Given the description of an element on the screen output the (x, y) to click on. 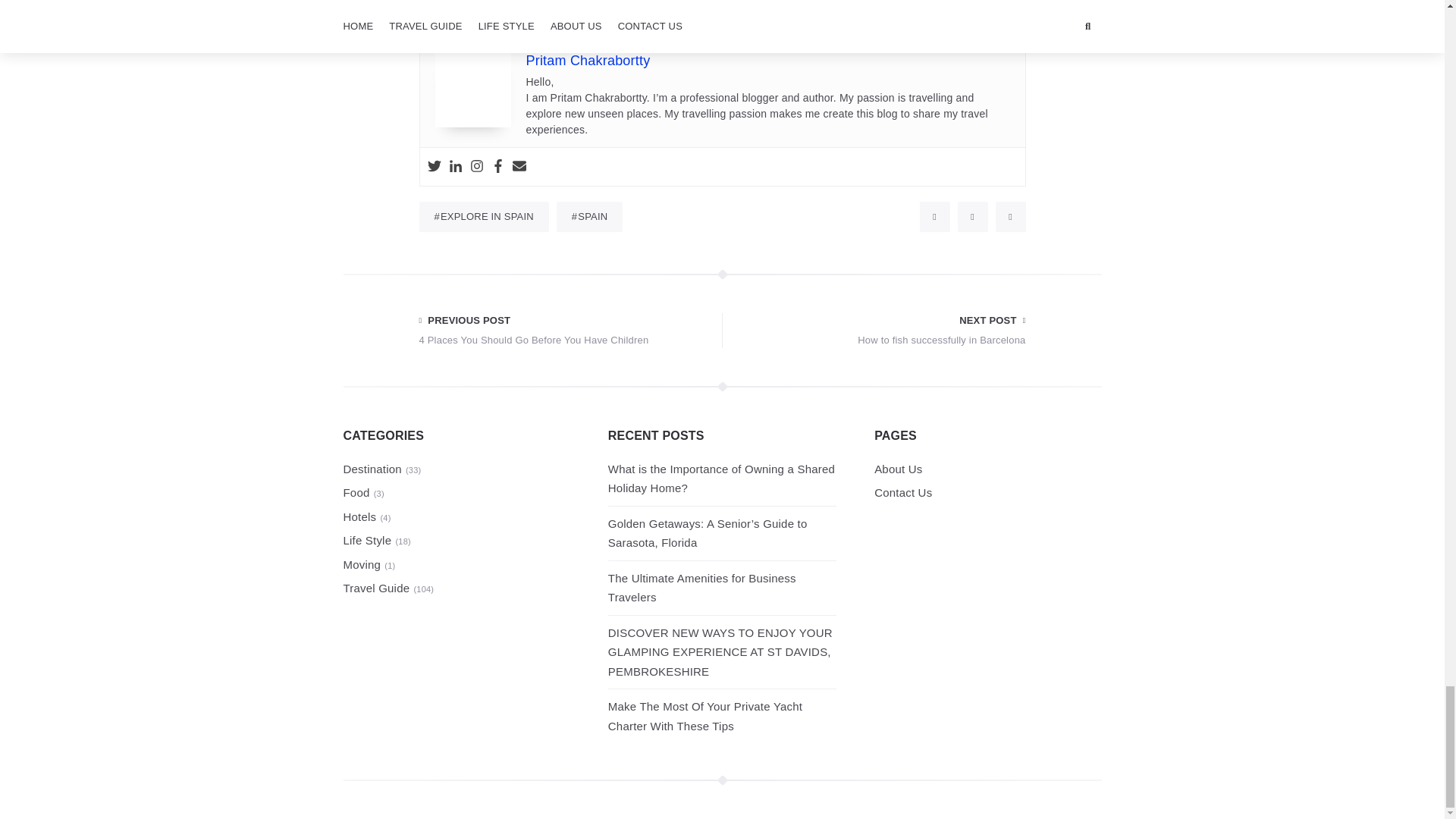
User email (518, 166)
SPAIN (589, 216)
Twitter (879, 330)
EXPLORE IN SPAIN (434, 166)
Pritam Chakrabortty (483, 216)
Linkedin (587, 60)
Facebook (455, 166)
Instagram (498, 166)
